Given the description of an element on the screen output the (x, y) to click on. 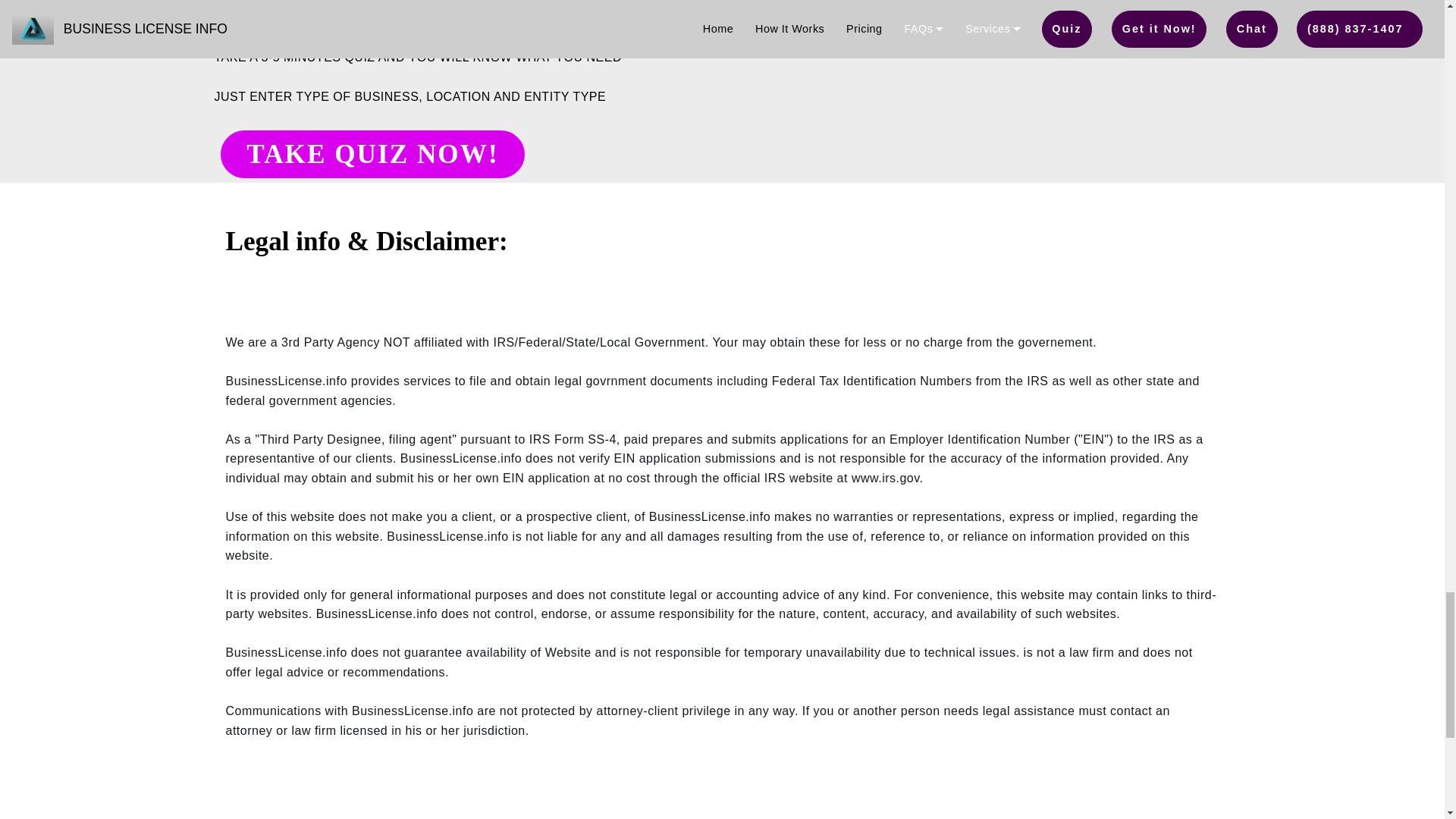
TAKE QUIZ NOW! (372, 154)
